Given the description of an element on the screen output the (x, y) to click on. 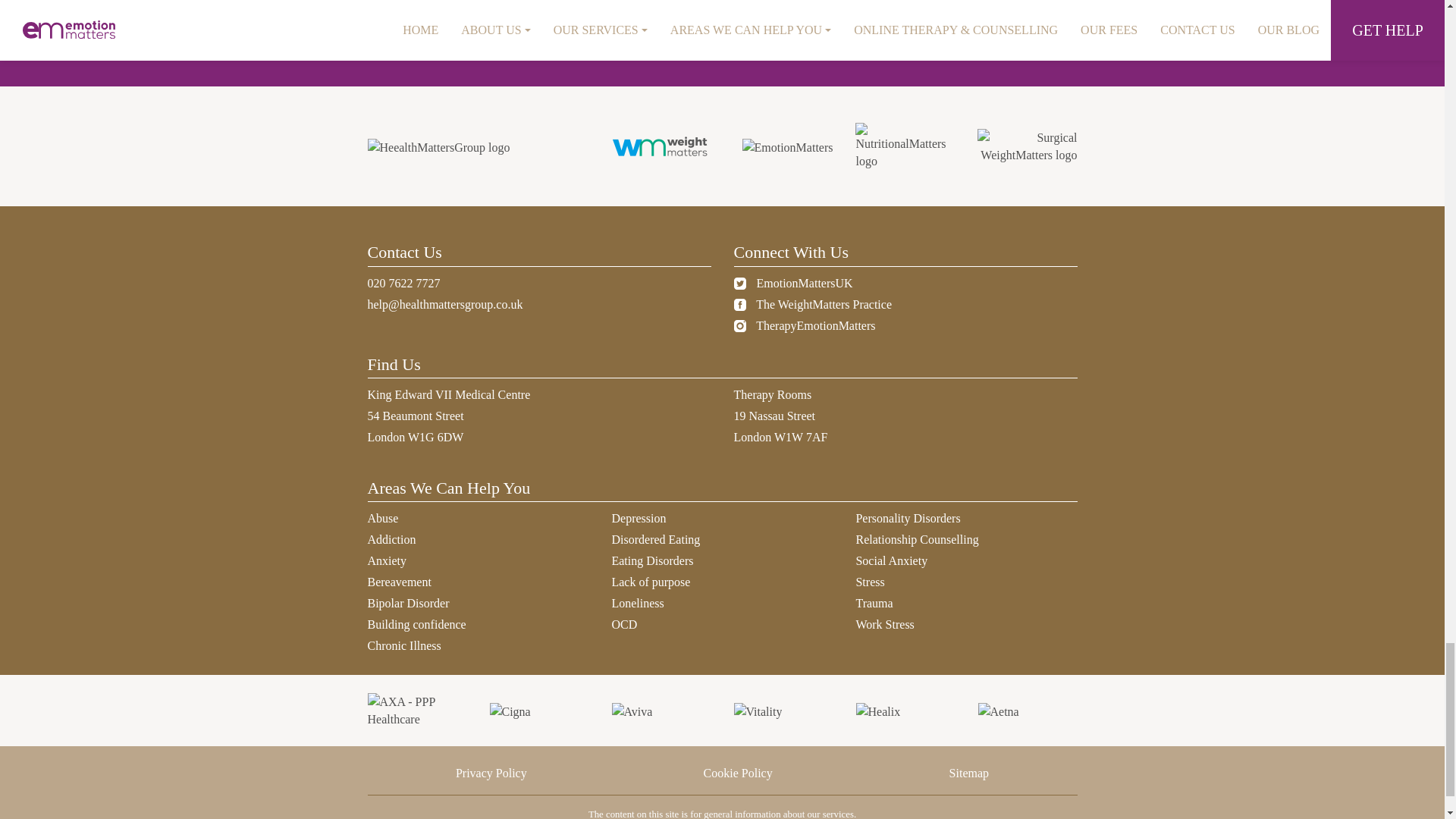
Facebook (739, 304)
Instagram (739, 326)
Twitter (739, 283)
